Given the description of an element on the screen output the (x, y) to click on. 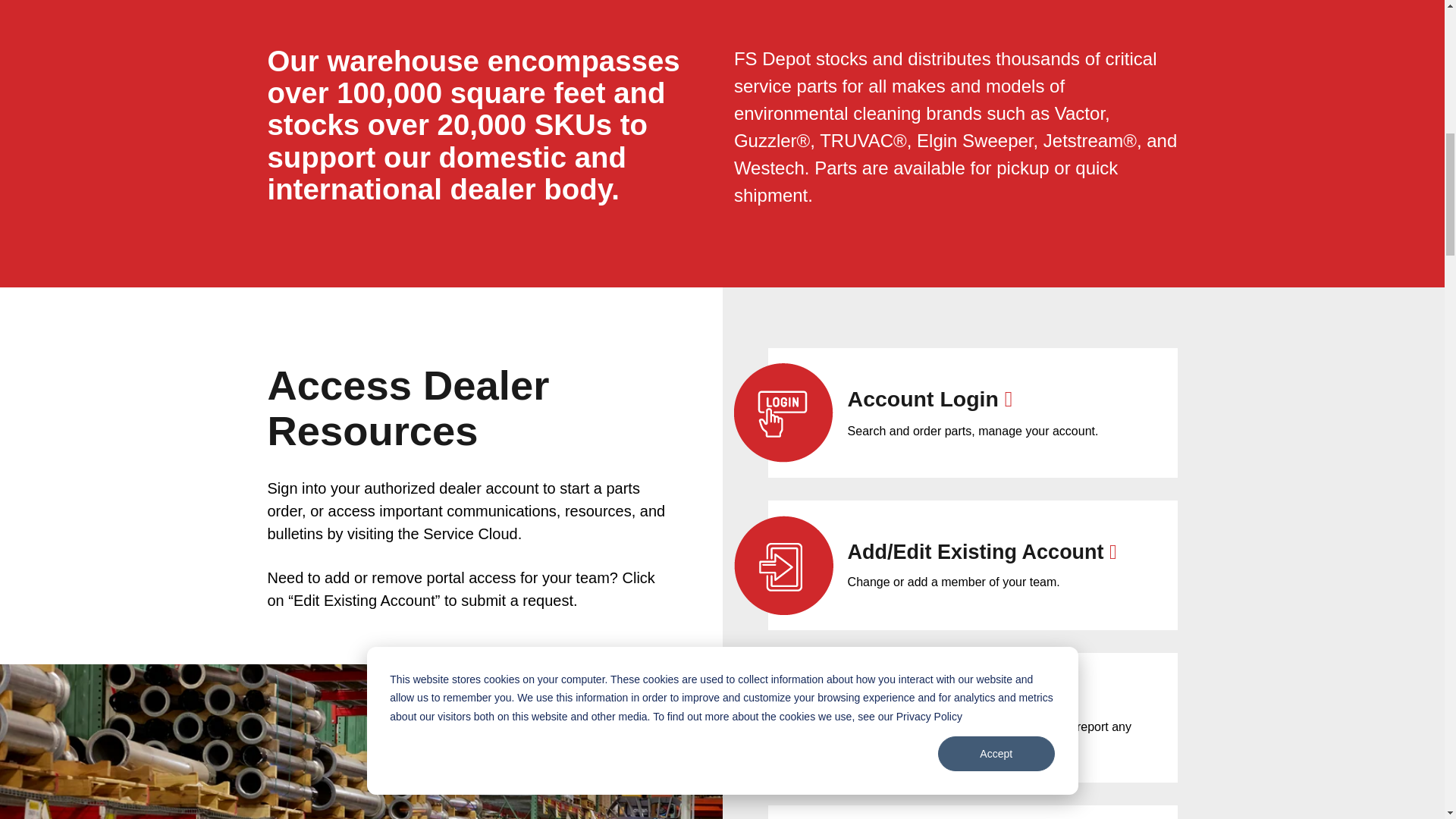
forgot-password (782, 717)
account-login (782, 412)
Forgot Password (942, 694)
Account Login (930, 398)
start-new-account (782, 565)
